Given the description of an element on the screen output the (x, y) to click on. 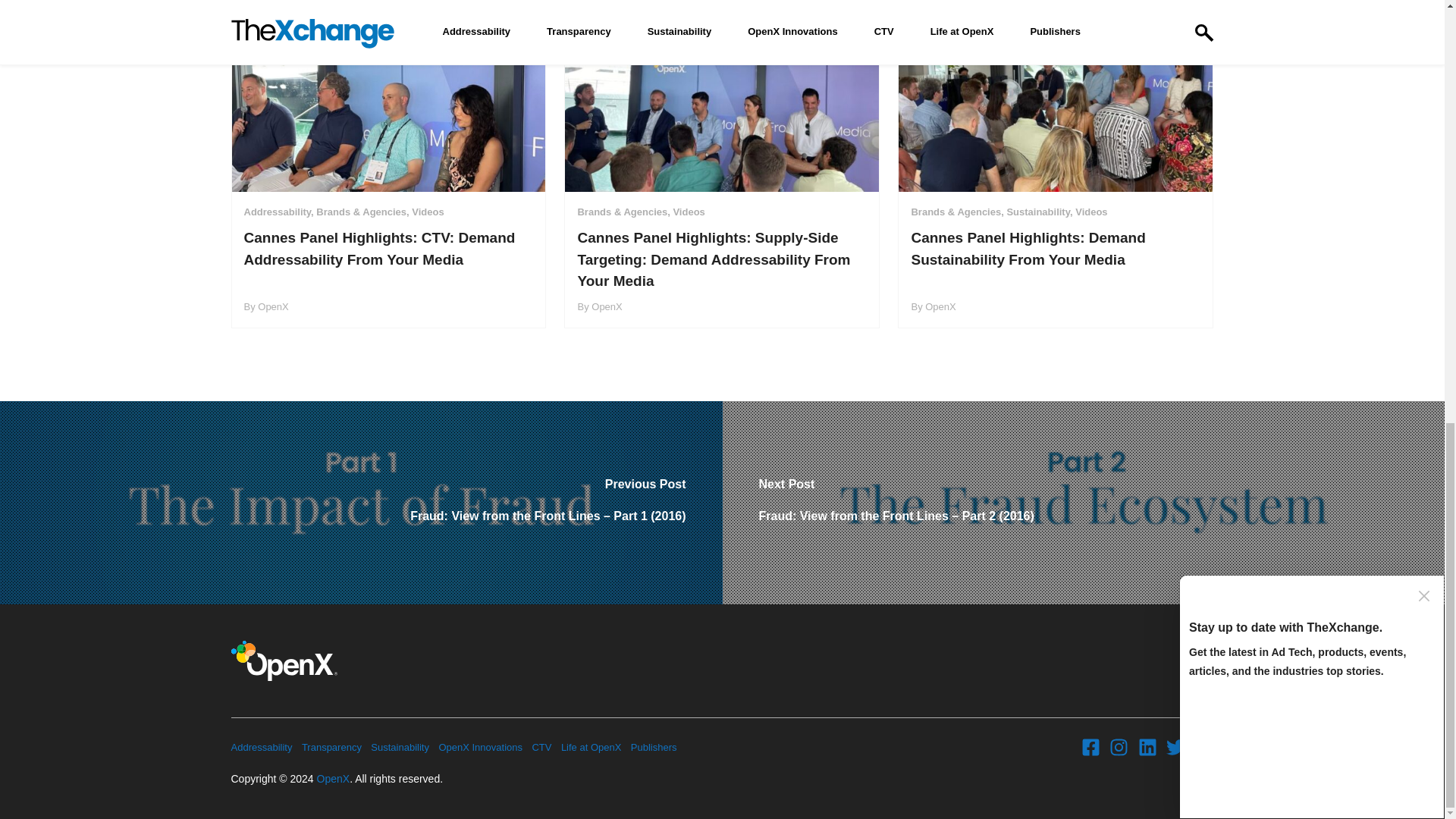
Life at OpenX (590, 747)
Sustainability (400, 747)
Publishers (653, 747)
OpenX (333, 778)
Addressability (261, 747)
CTV (541, 747)
Transparency (331, 747)
OpenX Innovations (480, 747)
